Given the description of an element on the screen output the (x, y) to click on. 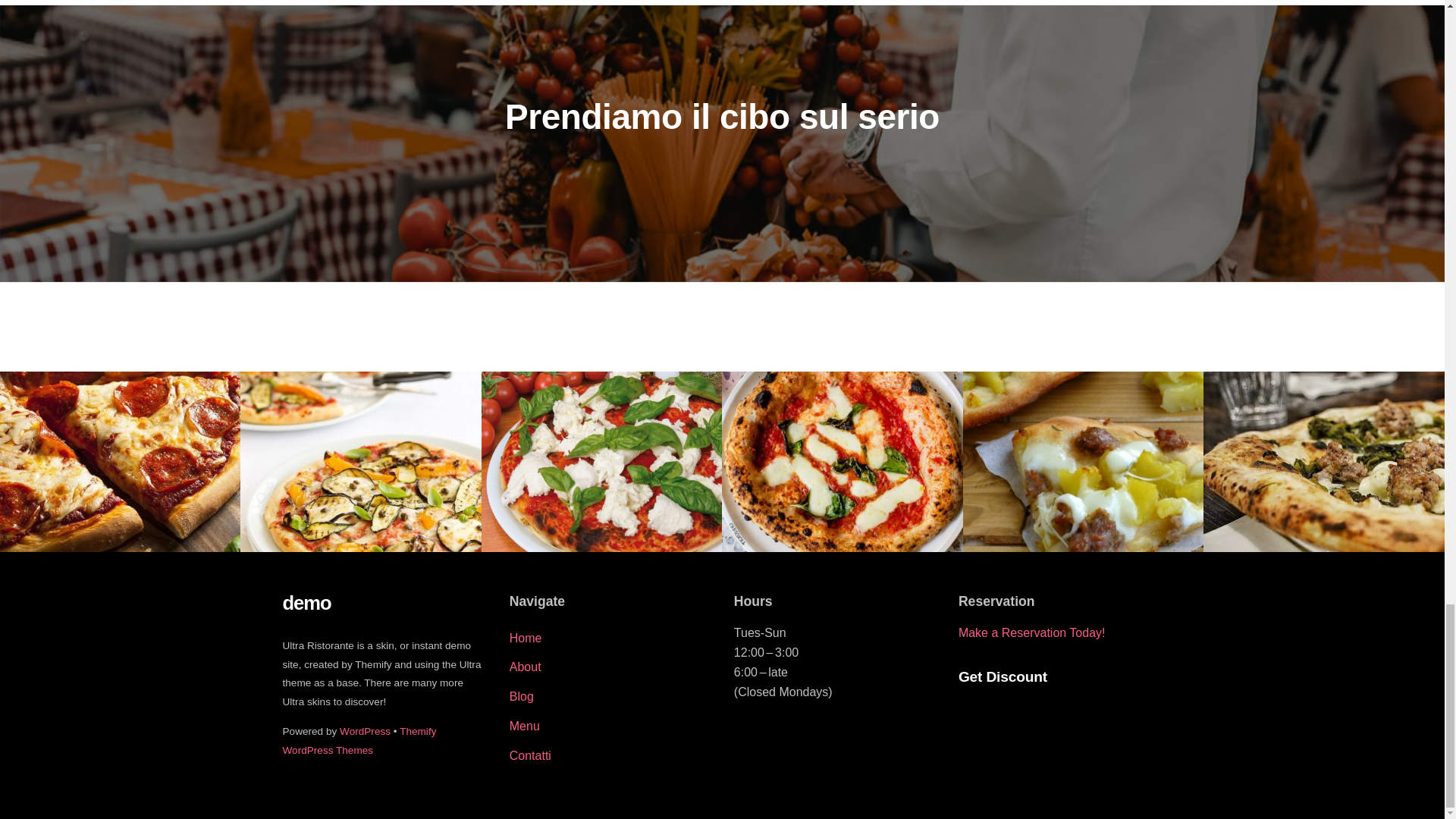
About (525, 666)
Home (525, 637)
WordPress (364, 731)
Contatti (530, 755)
Themify WordPress Themes (358, 740)
demo (306, 602)
demo (306, 602)
Make a Reservation Today! (1031, 632)
Blog (521, 696)
Menu (524, 725)
